Given the description of an element on the screen output the (x, y) to click on. 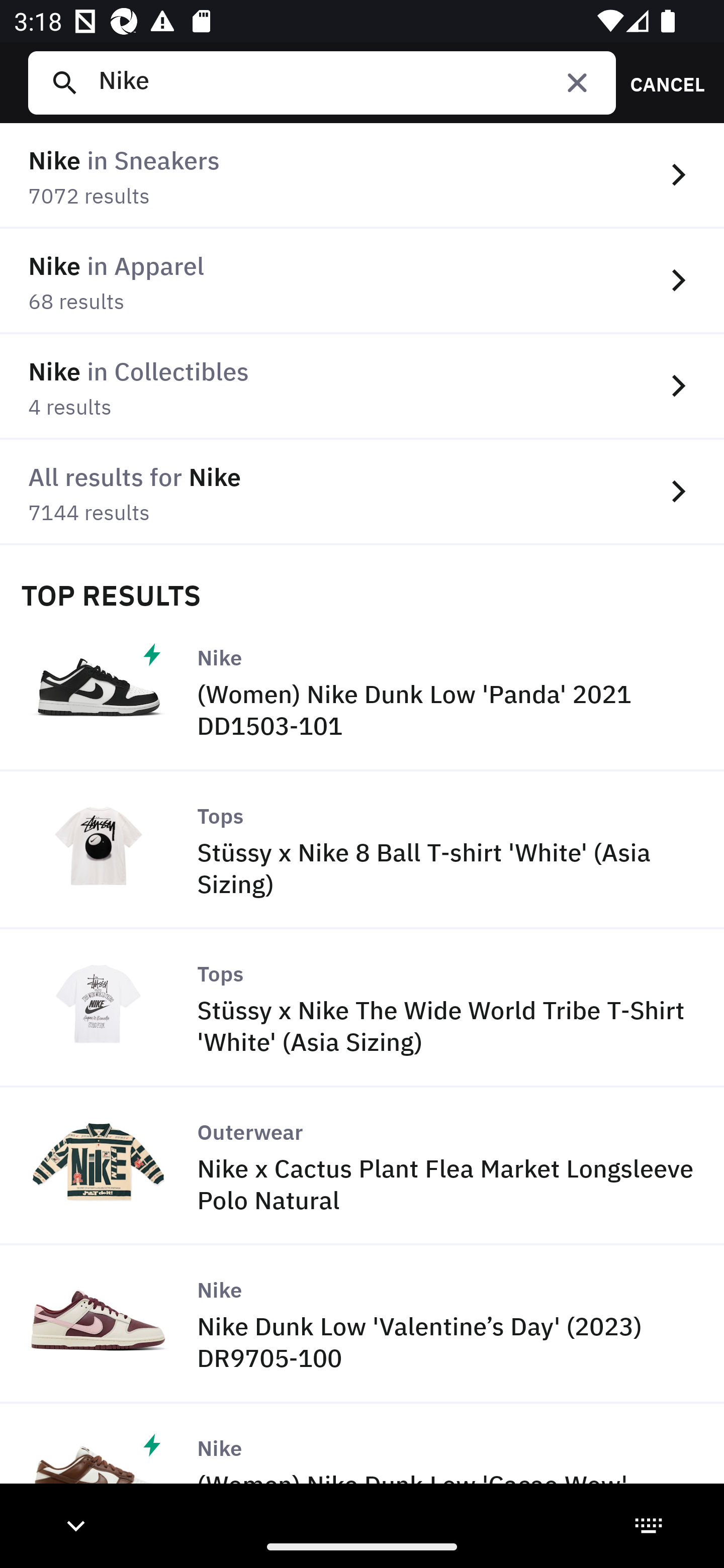
CANCEL (660, 82)
Nike (349, 82)
 (577, 82)
Nike  in Sneakers 7072 results  (362, 175)
Nike  in Apparel 68 results  (362, 280)
Nike  in Collectibles 4 results  (362, 386)
All results for  Nike 7144 results  (362, 492)
